Given the description of an element on the screen output the (x, y) to click on. 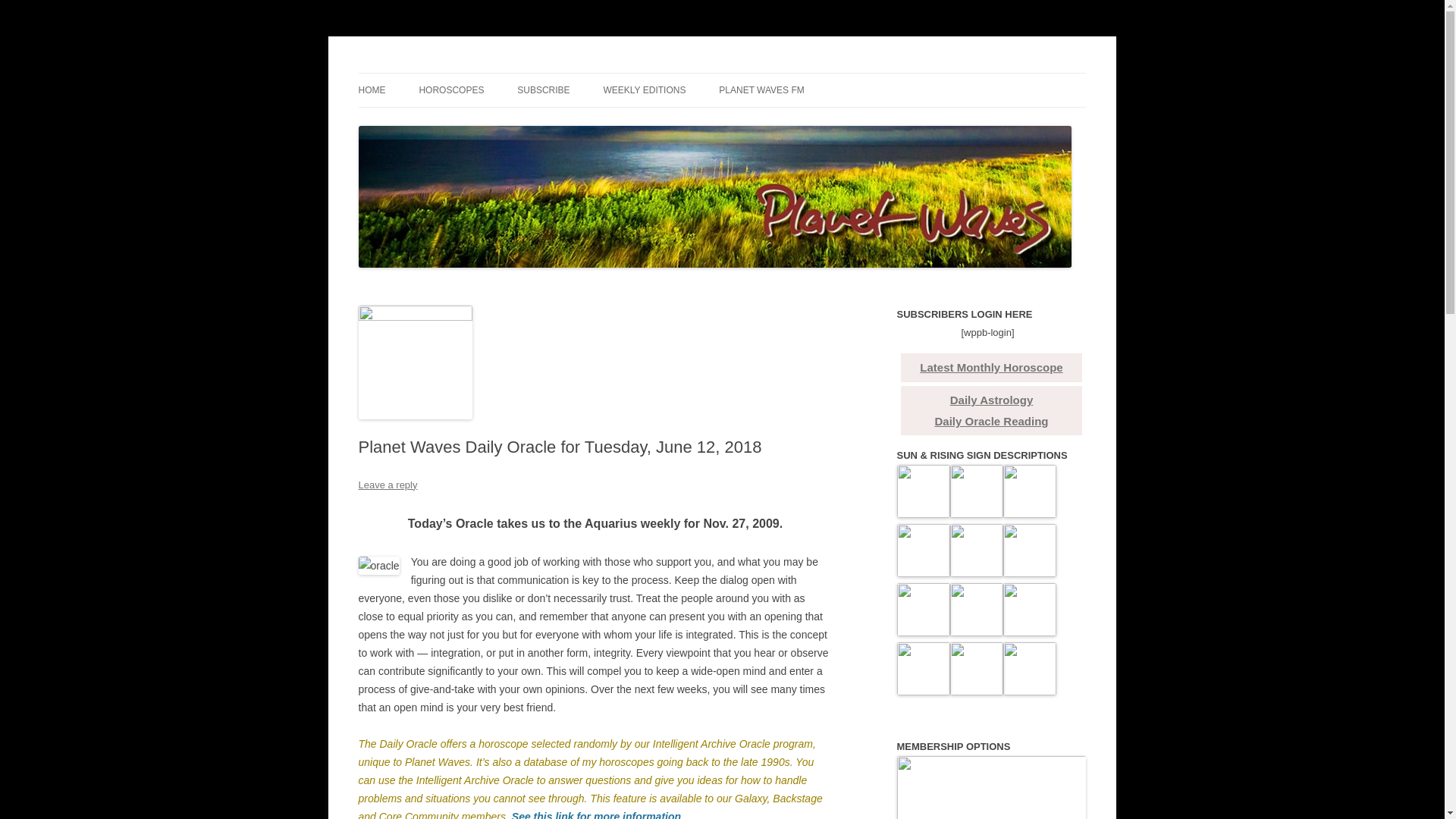
Daily Oracle Reading (991, 420)
WEEKLY EDITIONS (644, 90)
PLANET WAVES FM (761, 90)
See this link for more information (596, 814)
SUBSCRIBE (542, 90)
Daily Astrology (991, 399)
HOROSCOPES (451, 90)
READINGS (433, 122)
Planet Waves Astrology by Eric Francis and Friends (601, 72)
